Given the description of an element on the screen output the (x, y) to click on. 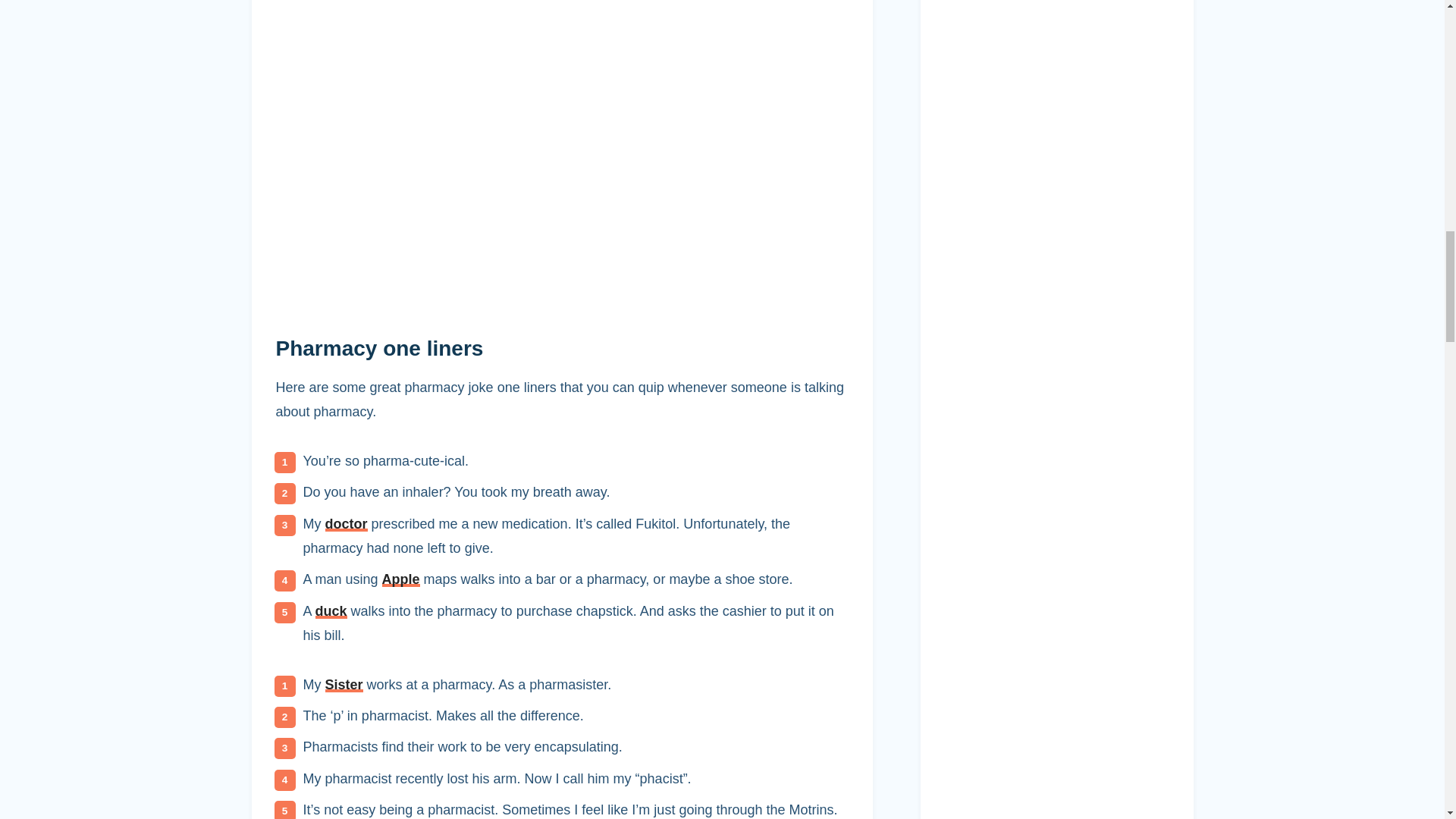
Apple (400, 579)
duck (331, 611)
Sister (343, 684)
doctor (345, 523)
doctor (345, 523)
Sister (343, 684)
duck (331, 611)
Apple (400, 579)
